Given the description of an element on the screen output the (x, y) to click on. 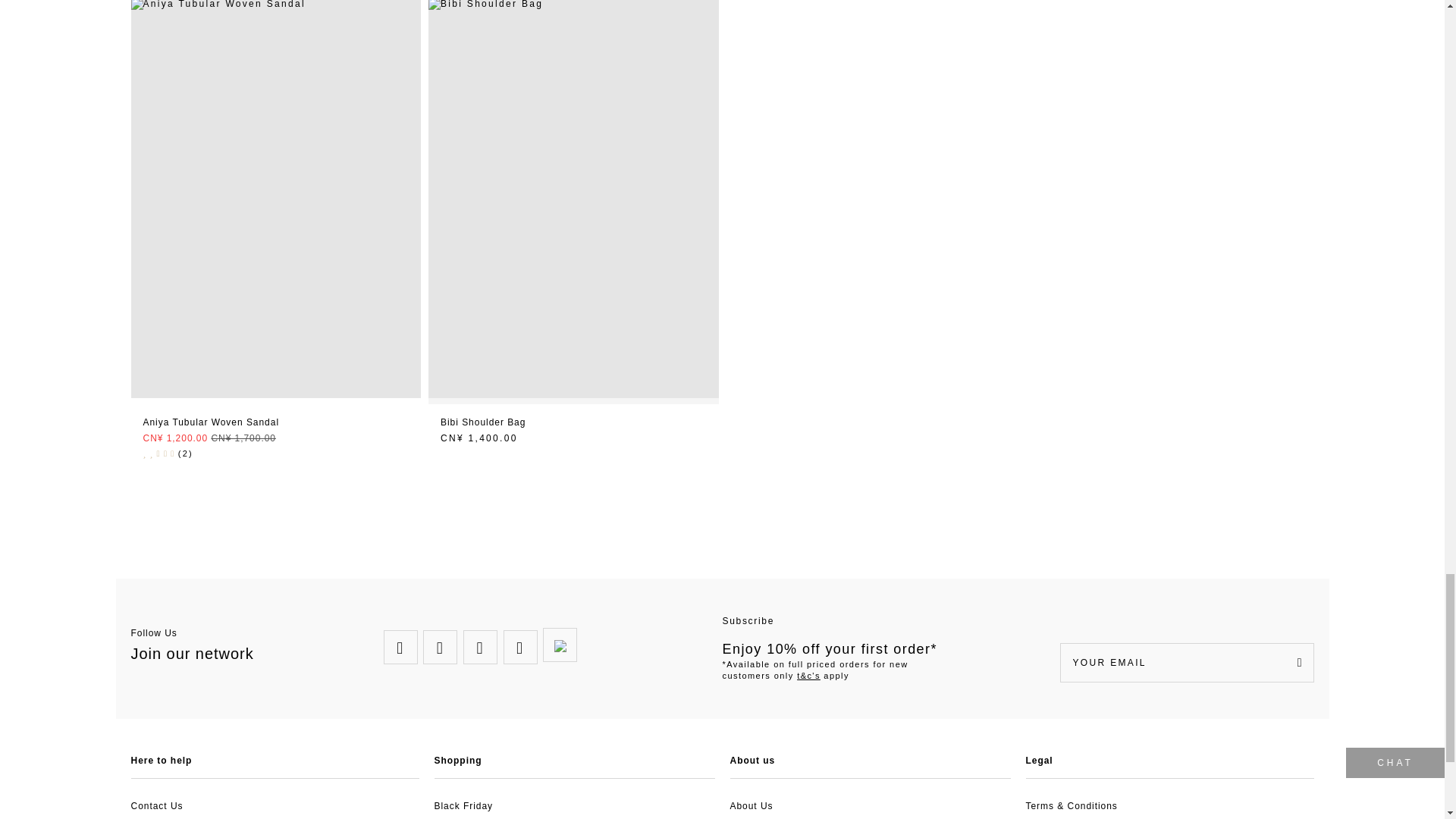
Aniya Tubular Woven Sandal (275, 5)
Add to Bag (275, 423)
Add to Bag (573, 423)
Bibi Shoulder Bag (573, 5)
